Given the description of an element on the screen output the (x, y) to click on. 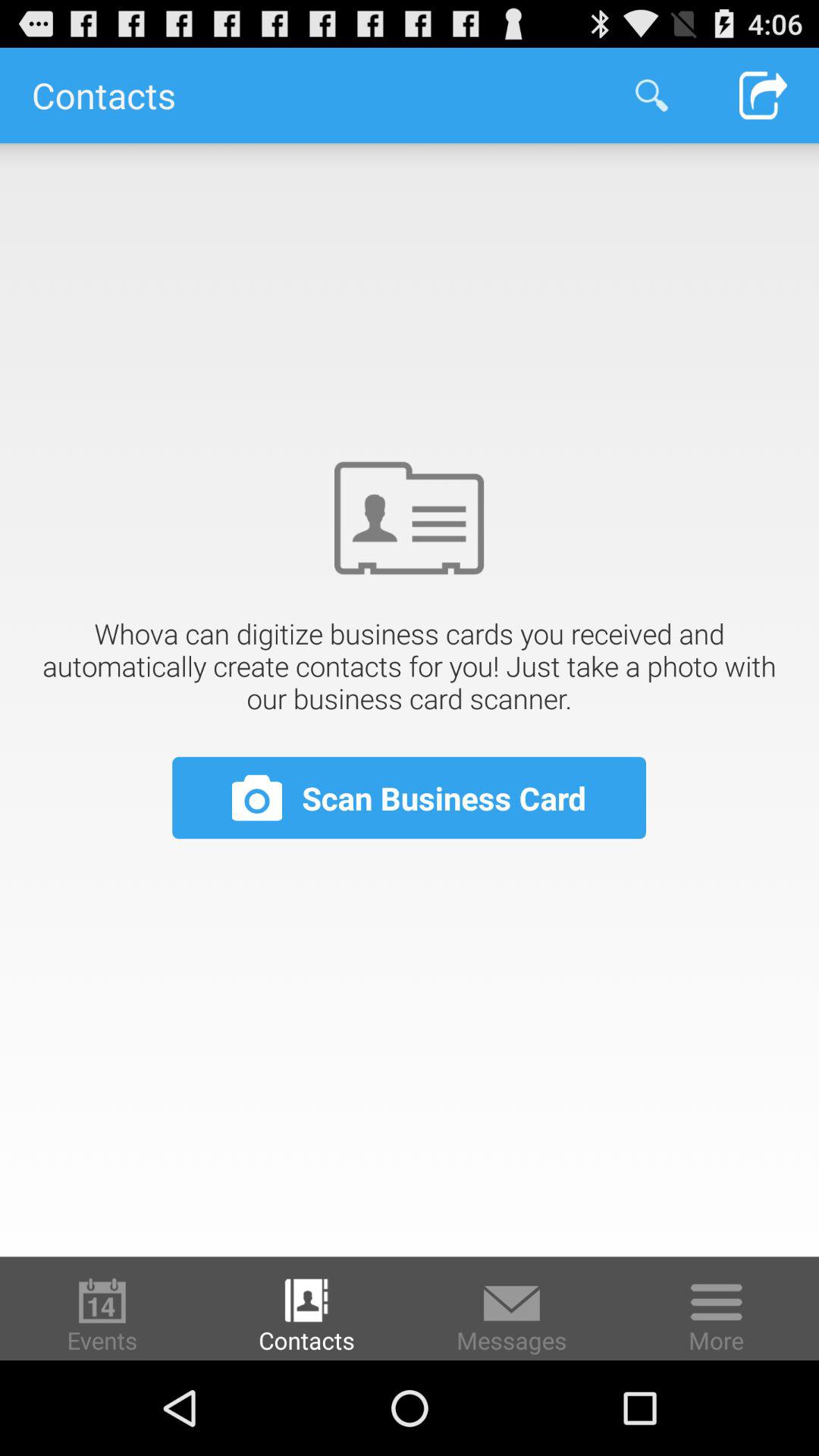
turn on icon above the whova can digitize app (763, 95)
